Given the description of an element on the screen output the (x, y) to click on. 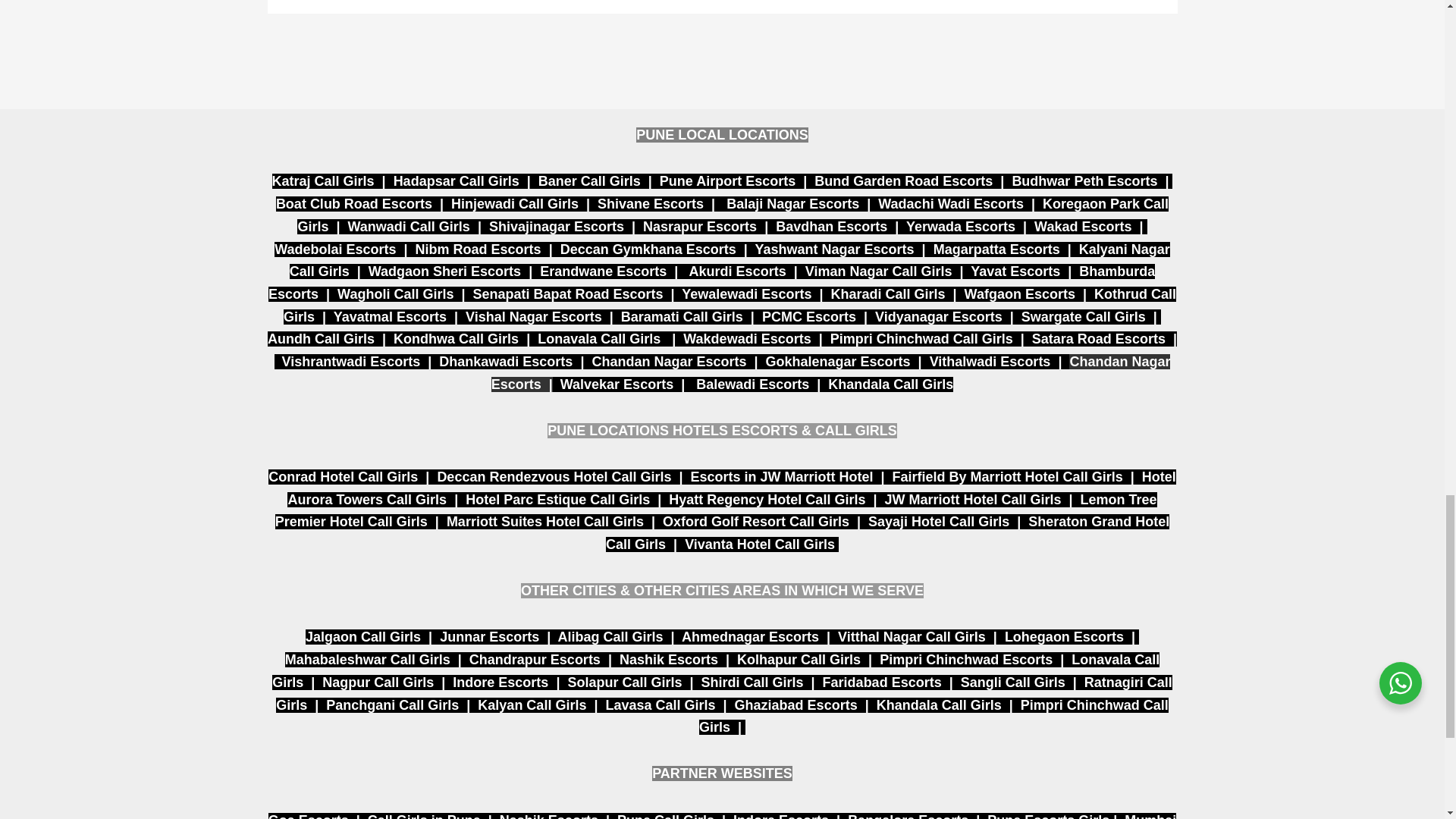
Budhwar Peth Escorts  (1085, 181)
Wadebolai Escorts (335, 249)
Nasrapur Escorts (700, 226)
Wadachi Wadi Escorts (950, 203)
Erandwane Escorts (603, 271)
Pune Airport Escorts (726, 181)
Wadgaon Sheri Escorts (444, 271)
Hadapsar Call Girls (456, 181)
Hinjewadi Call Girls (514, 203)
Shivane Escorts (649, 203)
Bund Garden Road Escorts  (904, 181)
Deccan Gymkhana Escorts (648, 249)
Kalyani Nagar Call Girls (729, 260)
Yerwada Escorts (959, 226)
Nibm Road Escorts (477, 249)
